Given the description of an element on the screen output the (x, y) to click on. 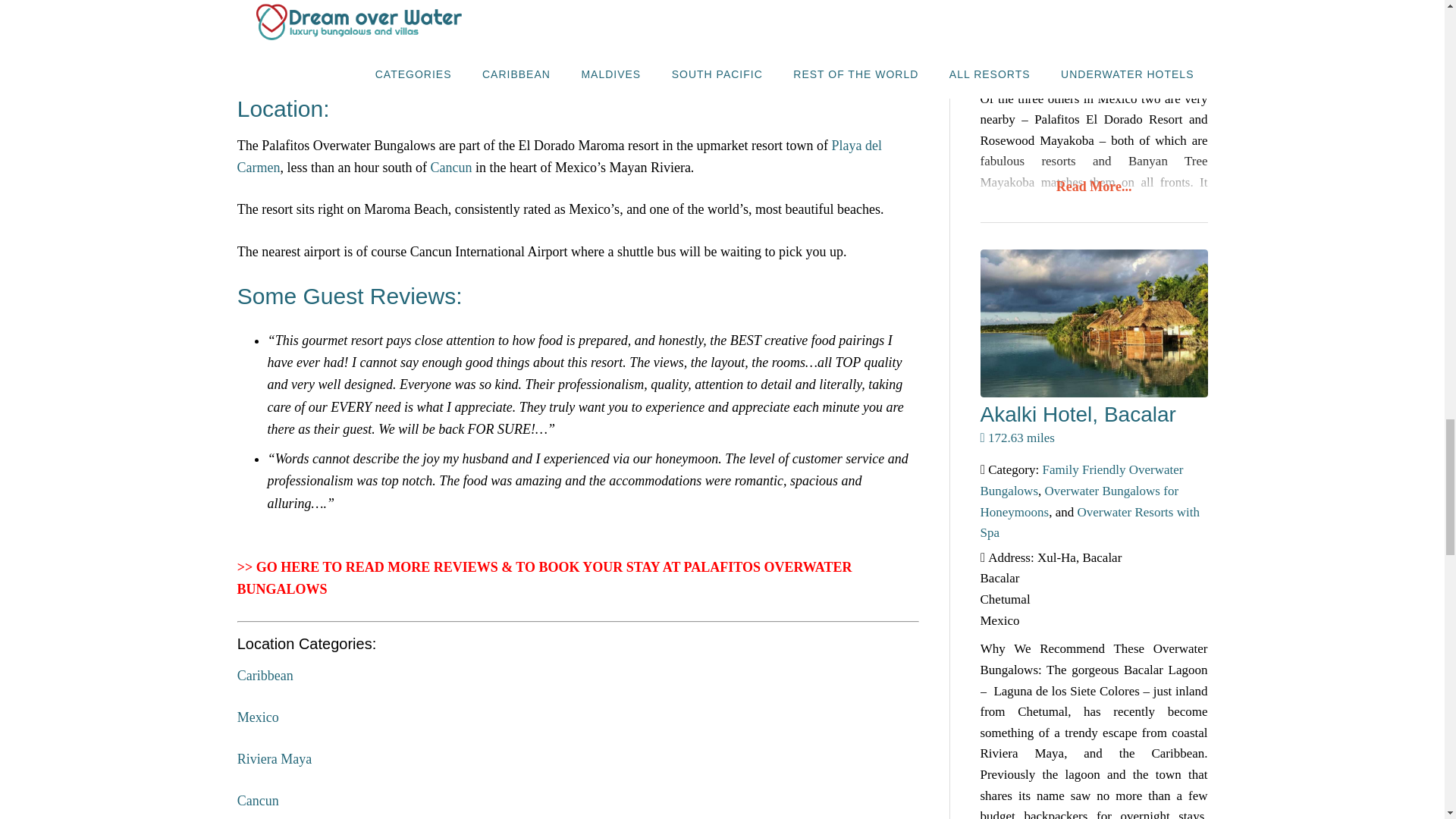
View: Akalki Hotel, Bacalar (1076, 413)
